Given the description of an element on the screen output the (x, y) to click on. 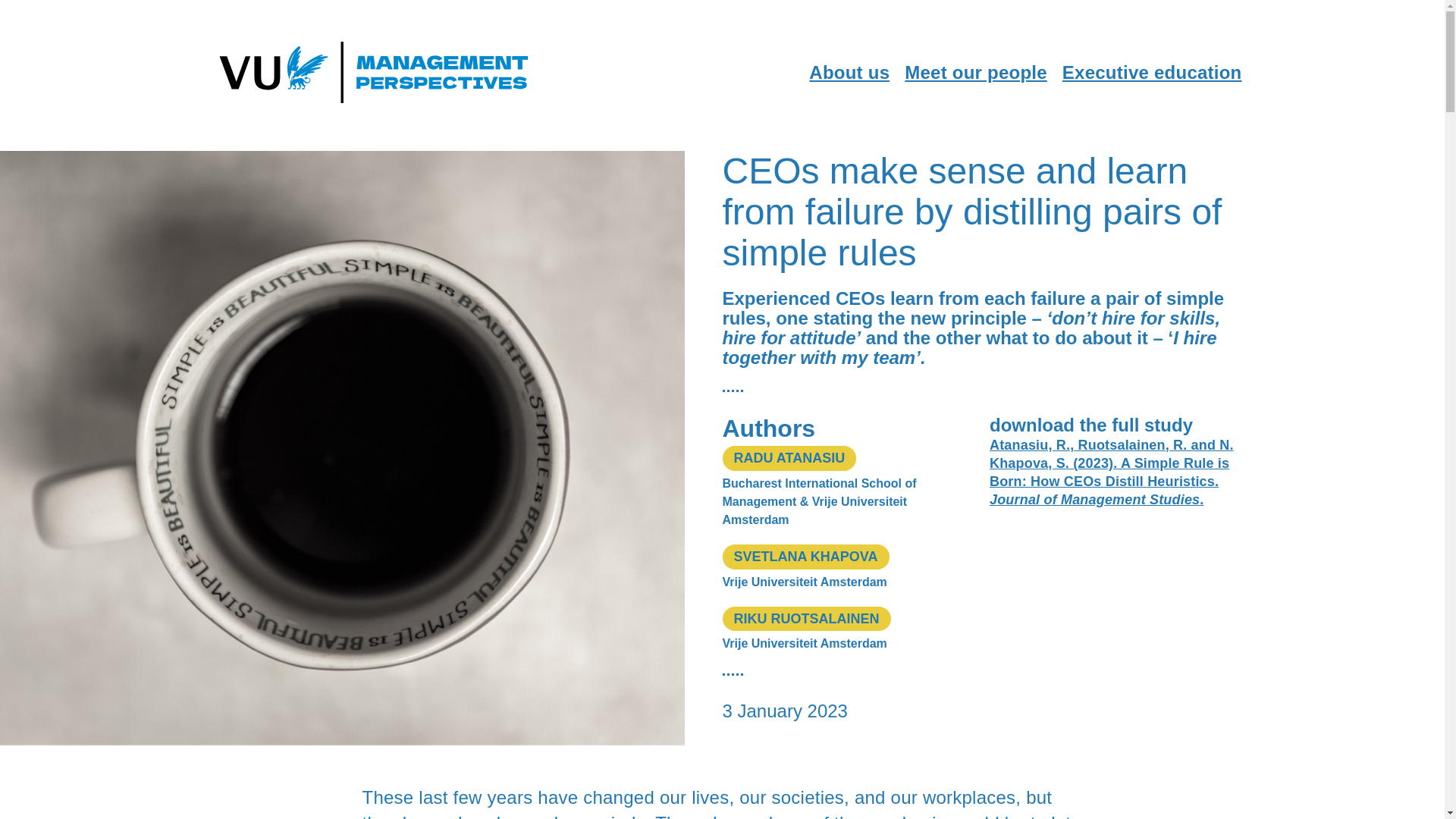
Meet our people (975, 72)
Executive education (1151, 72)
About us (849, 72)
